Given the description of an element on the screen output the (x, y) to click on. 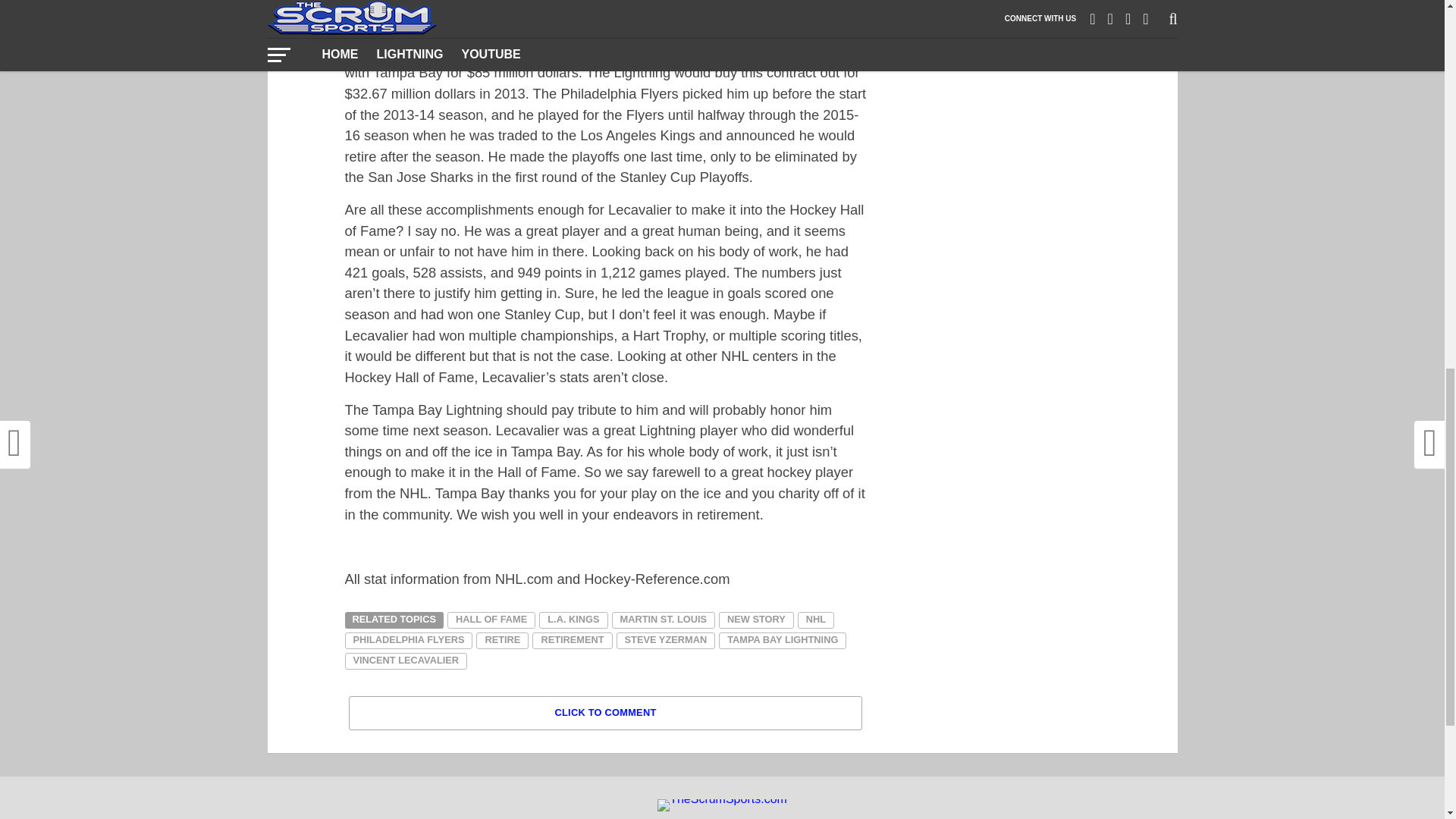
NHL (815, 619)
HALL OF FAME (490, 619)
RETIREMENT (571, 640)
L.A. KINGS (572, 619)
VINCENT LECAVALIER (405, 660)
NEW STORY (756, 619)
TAMPA BAY LIGHTNING (782, 640)
STEVE YZERMAN (665, 640)
MARTIN ST. LOUIS (662, 619)
PHILADELPHIA FLYERS (407, 640)
RETIRE (502, 640)
